Given the description of an element on the screen output the (x, y) to click on. 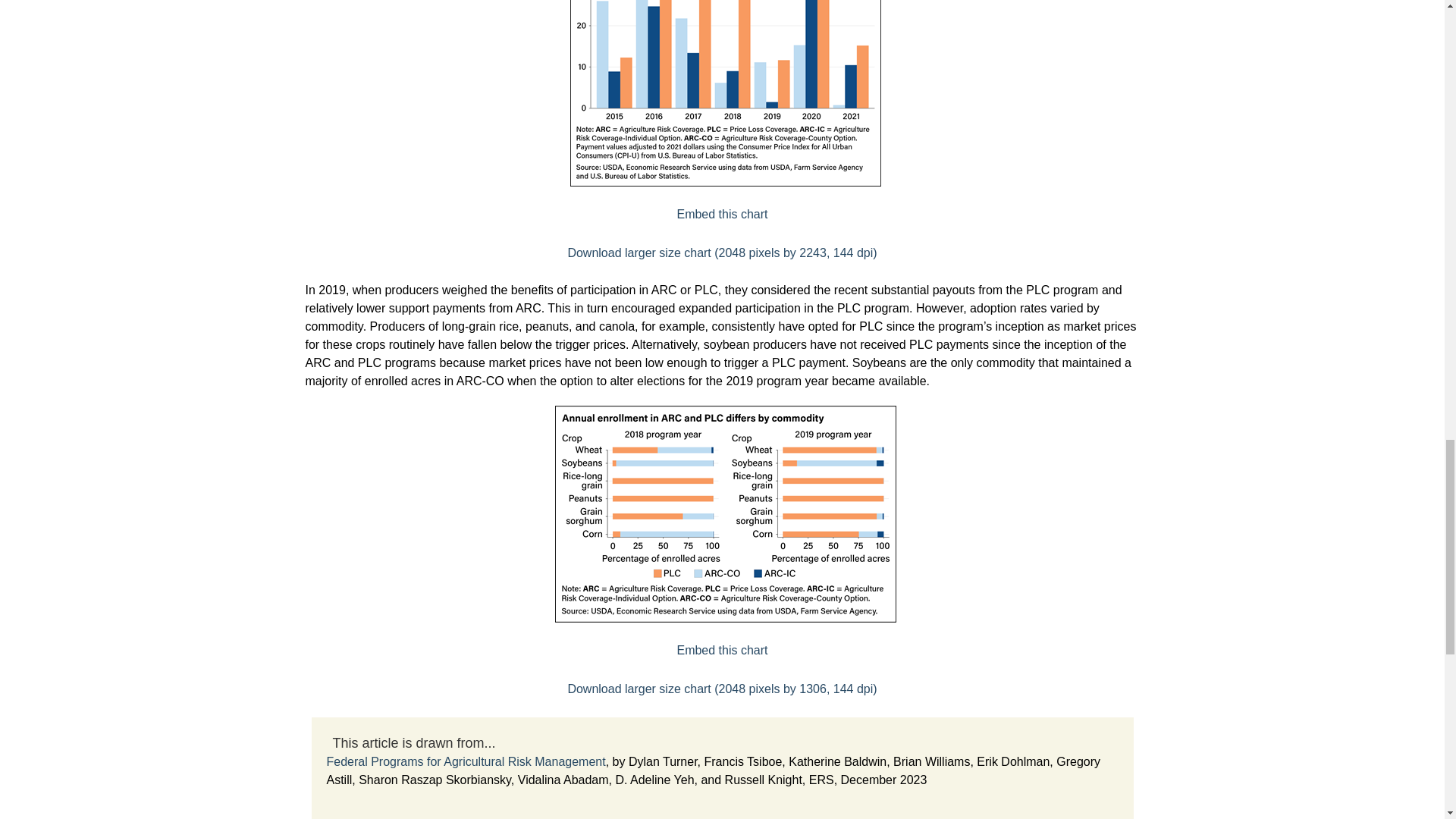
Annual enrollment in ARC and PLC differs by commodity (722, 649)
Federal Programs for Agricultural Risk Management (465, 761)
Embed this chart (722, 649)
Embed this chart (722, 214)
